Given the description of an element on the screen output the (x, y) to click on. 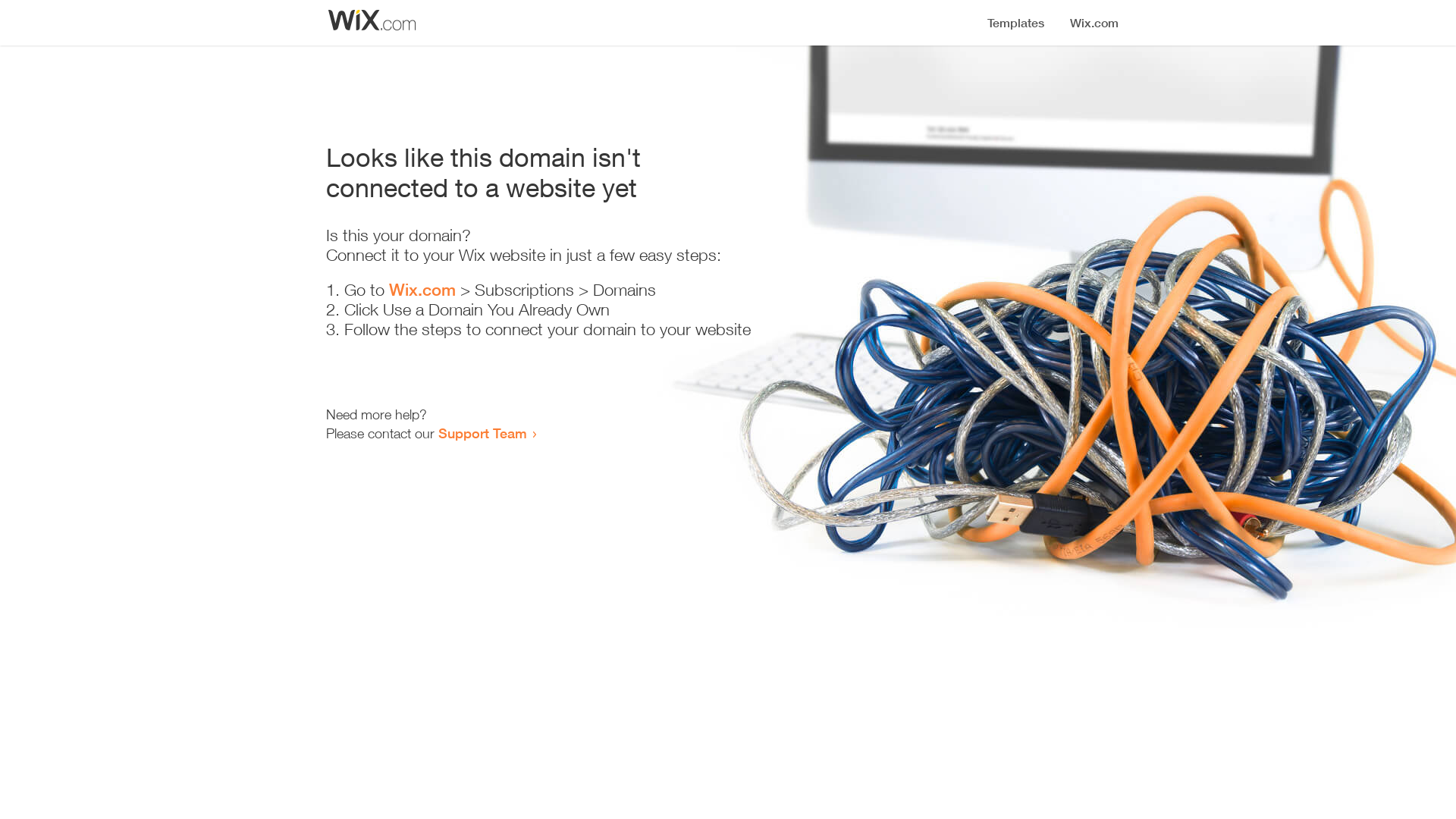
Wix.com Element type: text (422, 289)
Support Team Element type: text (482, 432)
